Given the description of an element on the screen output the (x, y) to click on. 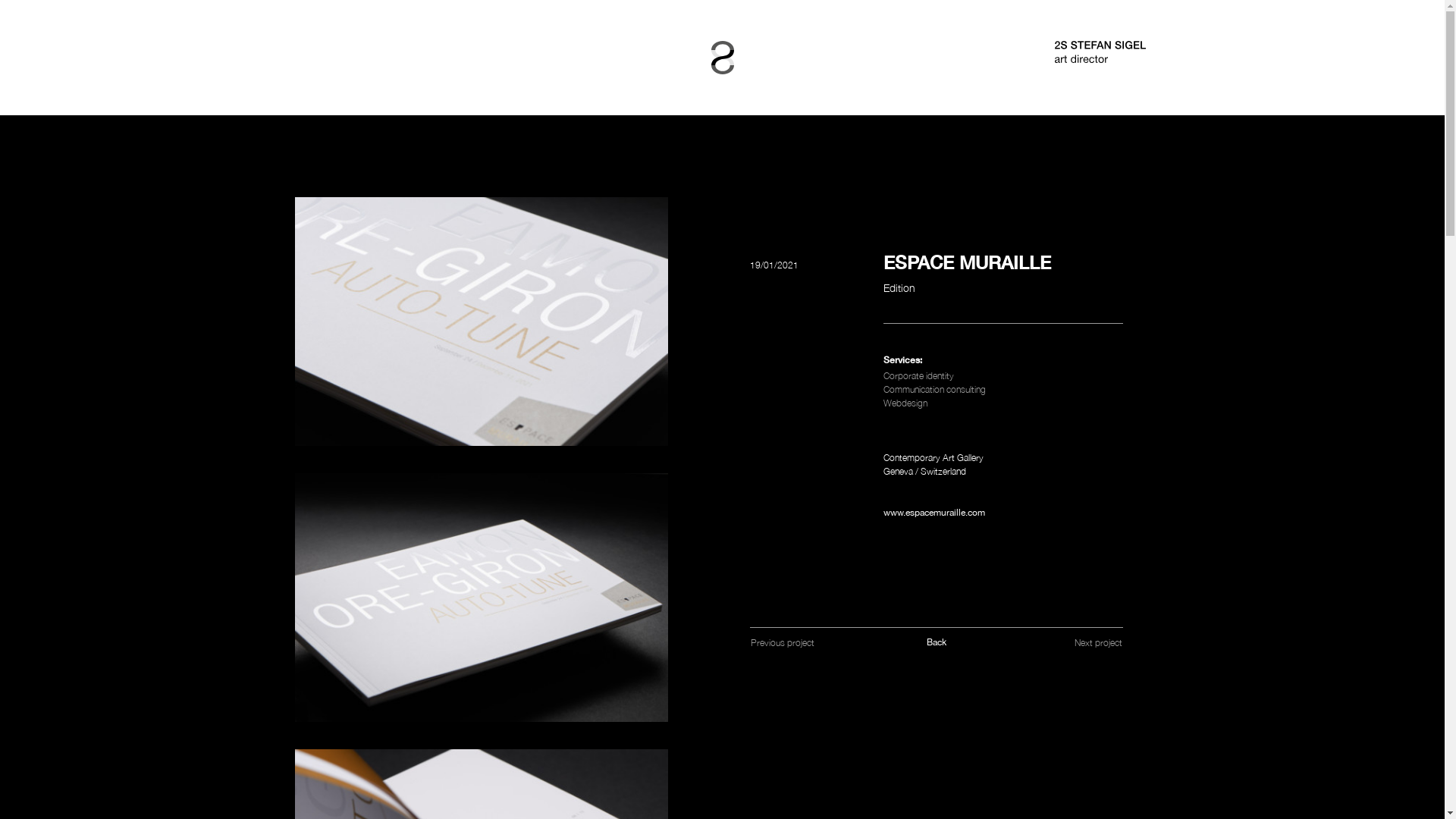
Back Element type: text (936, 642)
www.espacemuraille.com Element type: text (933, 512)
Previous project Element type: text (781, 643)
Next project Element type: text (1098, 643)
